Given the description of an element on the screen output the (x, y) to click on. 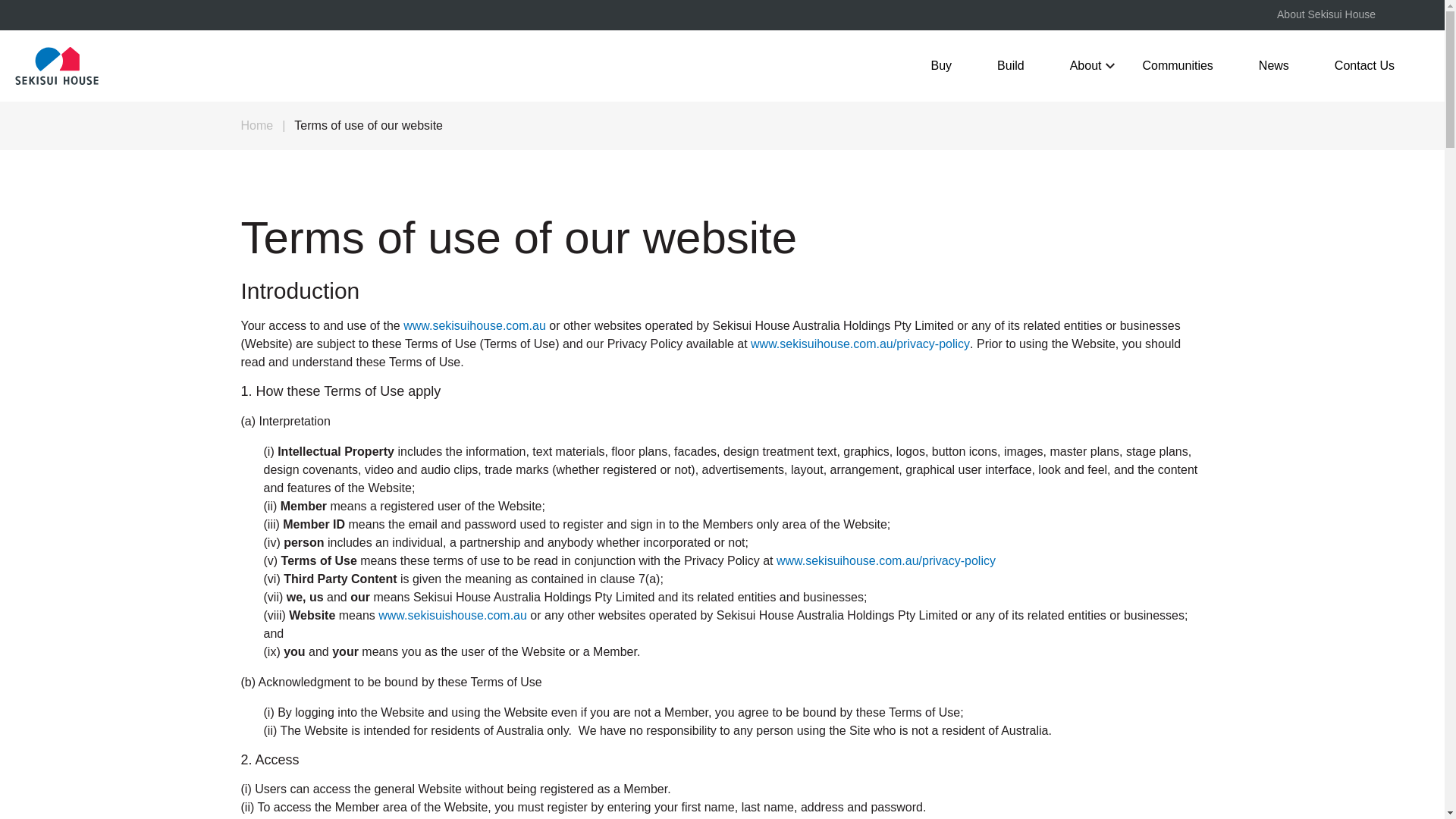
Contact Us (1363, 65)
Home (257, 124)
News (1273, 65)
Communities (1176, 65)
www.sekisuihouse.com.au (474, 325)
Buy (941, 65)
Build (1010, 65)
www.sekisuishouse.com.au (452, 615)
About Sekisui House (1326, 15)
About (1082, 65)
